Given the description of an element on the screen output the (x, y) to click on. 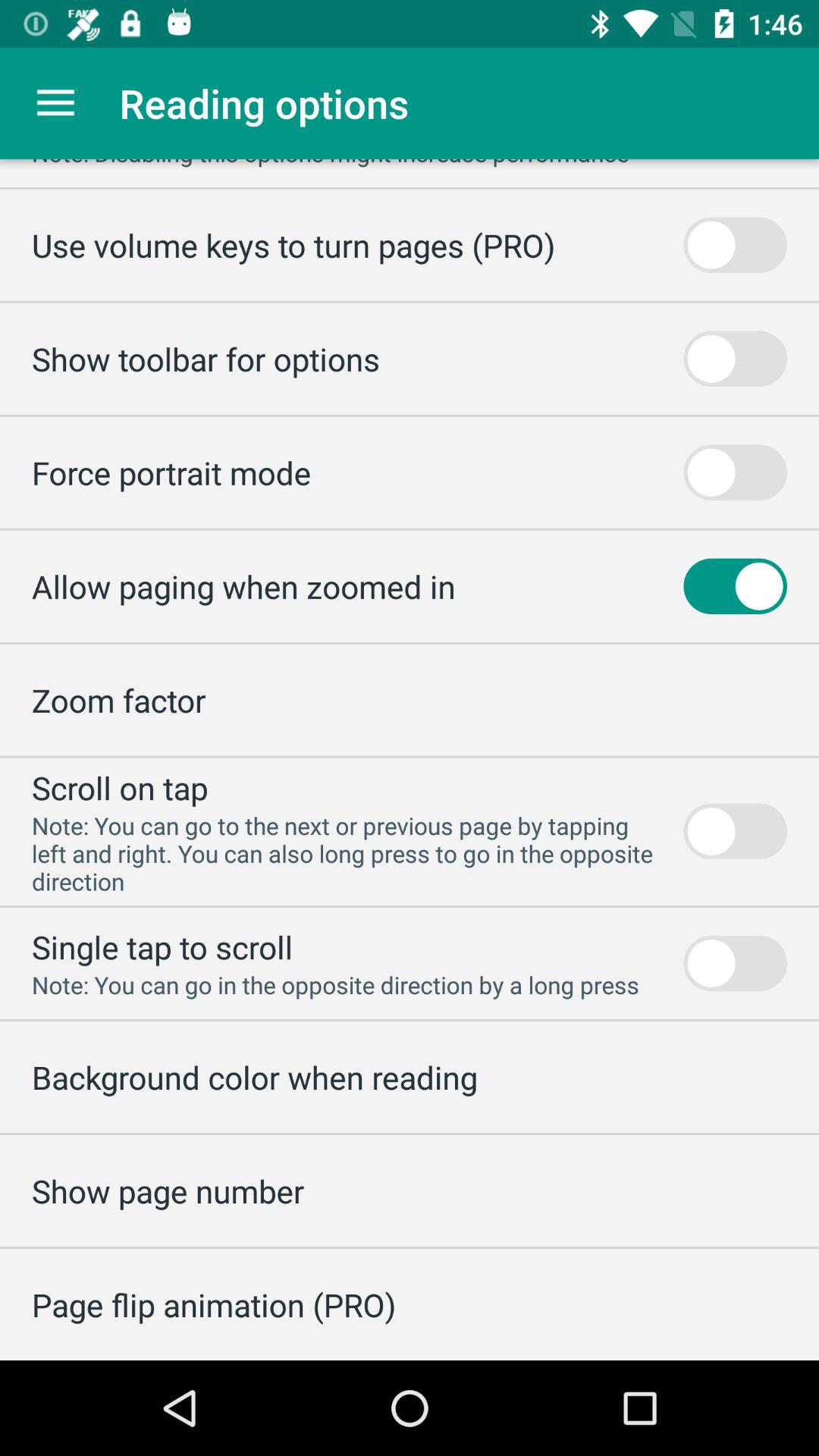
flip until the background color when item (254, 1076)
